Given the description of an element on the screen output the (x, y) to click on. 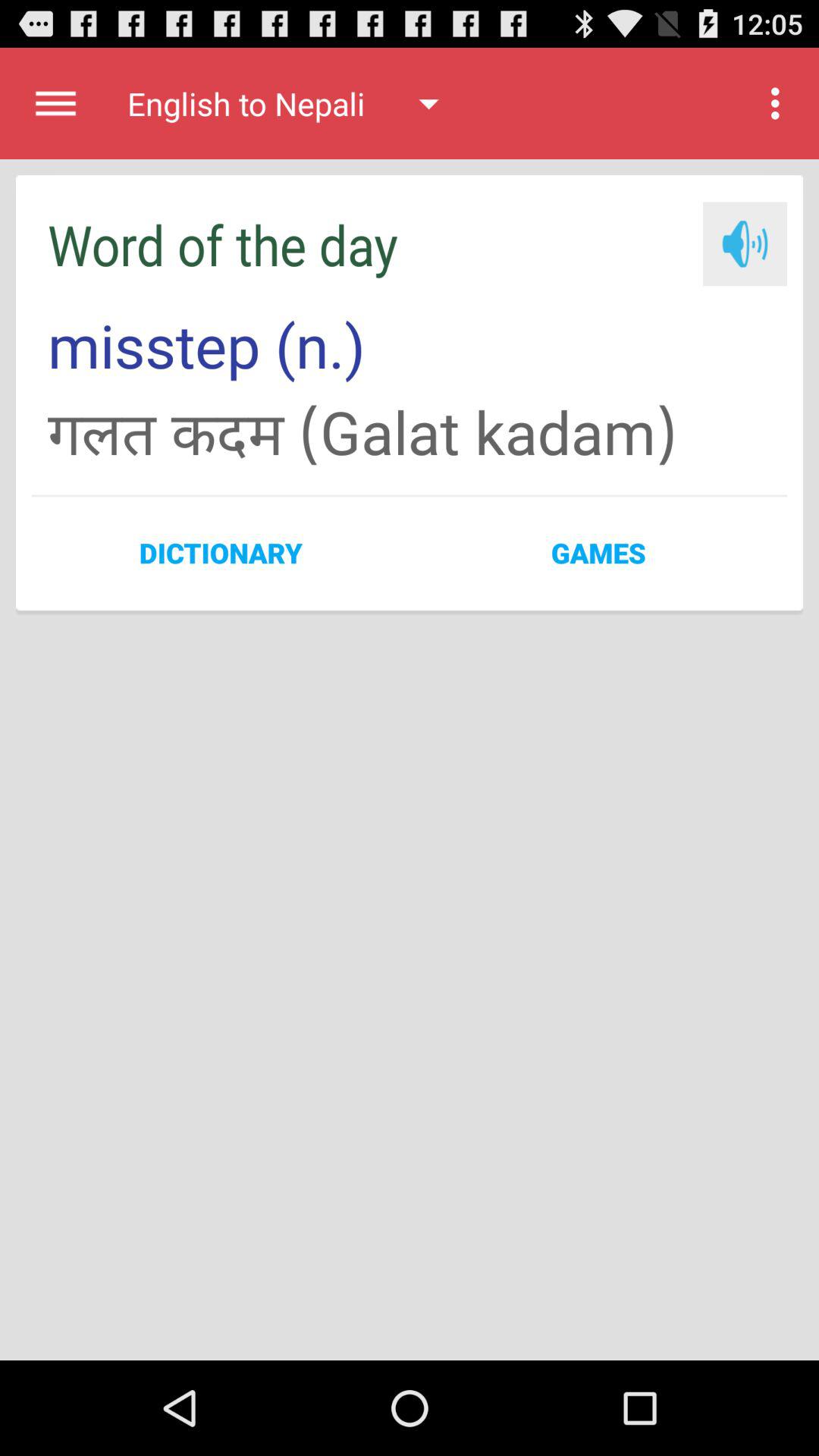
listen to word (744, 243)
